Given the description of an element on the screen output the (x, y) to click on. 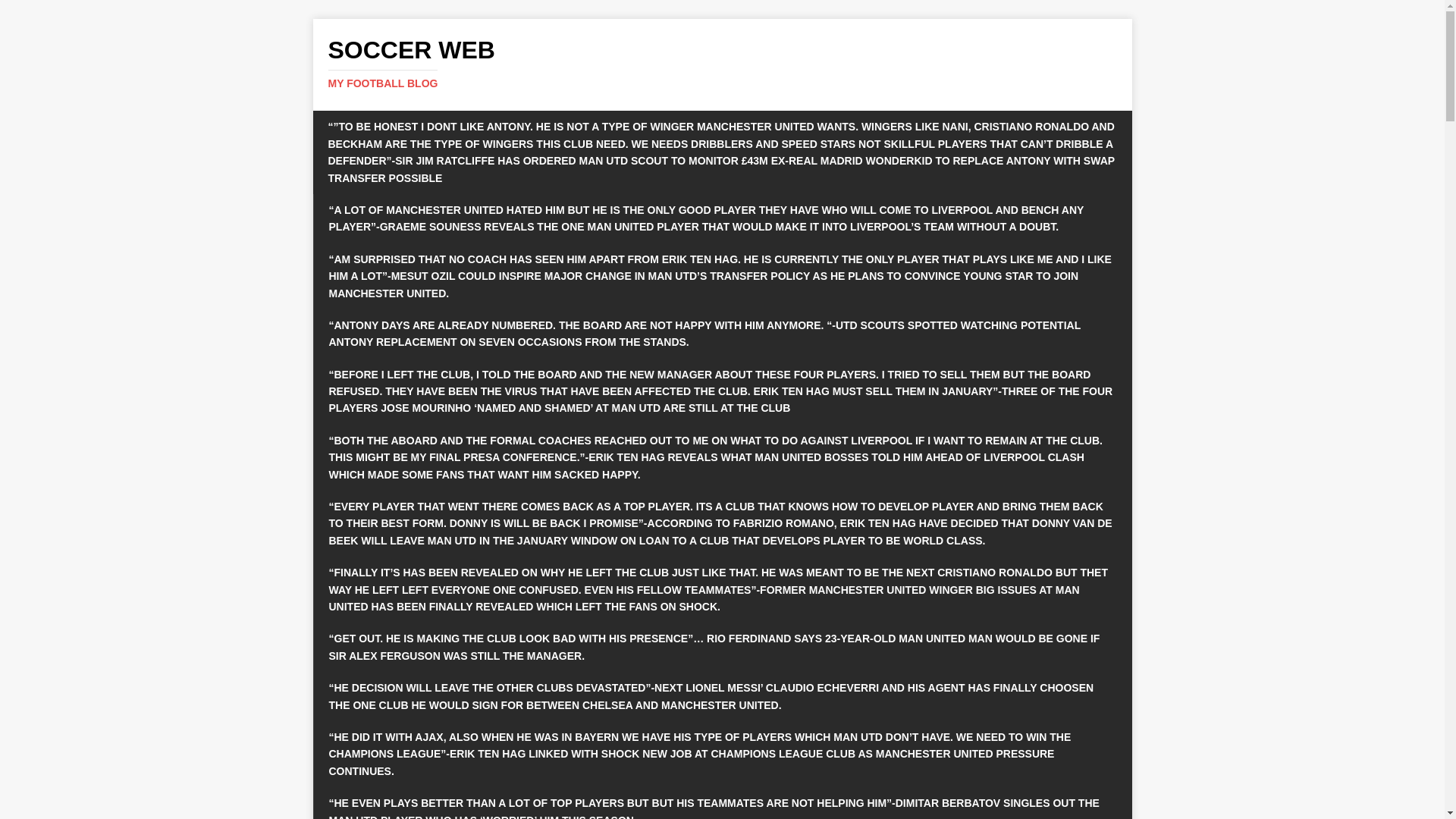
Soccer Web (721, 63)
